Given the description of an element on the screen output the (x, y) to click on. 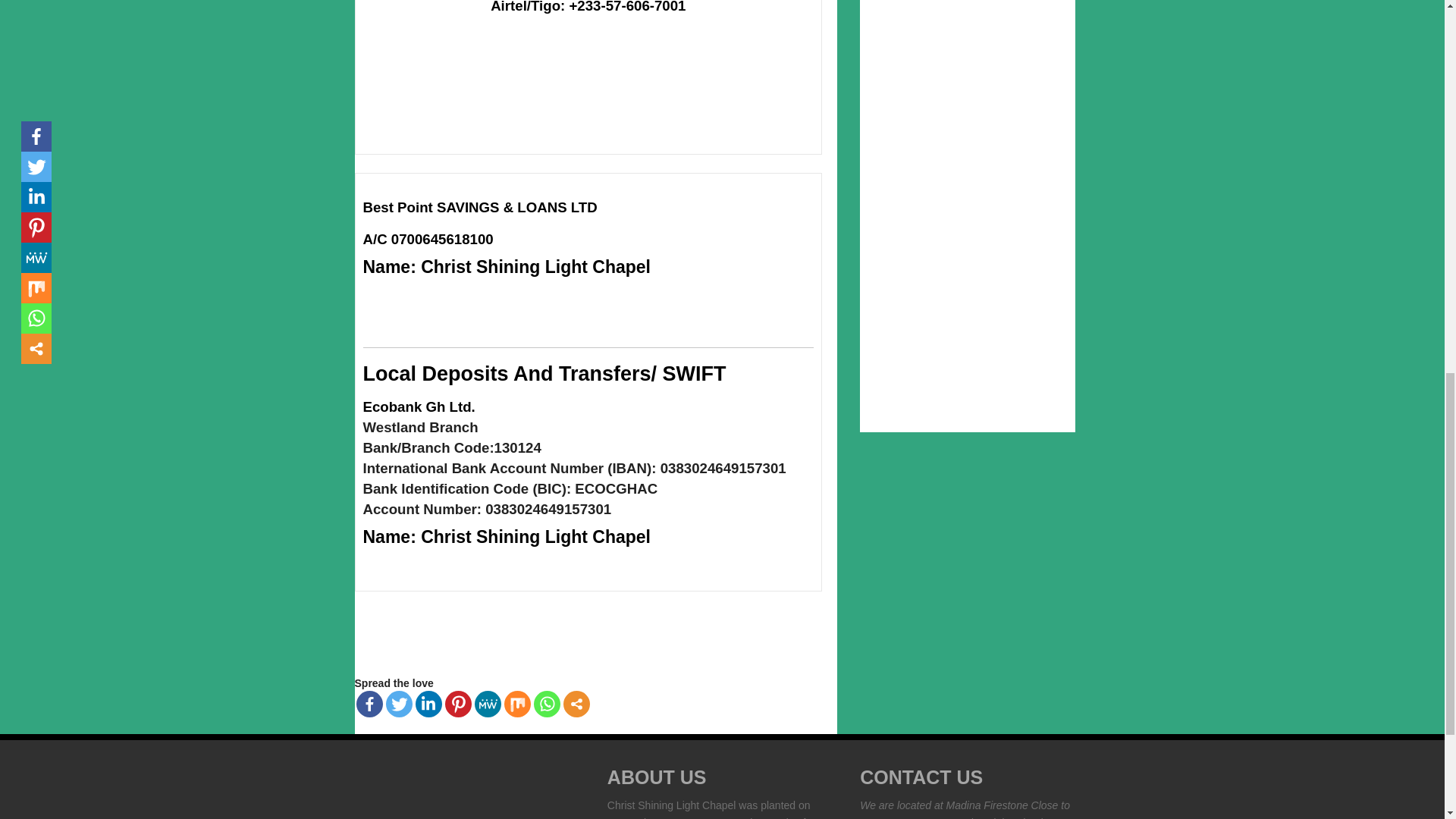
MeWe (487, 704)
More (575, 704)
Linkedin (428, 704)
Whatsapp (547, 704)
Facebook (369, 704)
Mix (516, 704)
Pinterest (457, 704)
Twitter (398, 704)
